Given the description of an element on the screen output the (x, y) to click on. 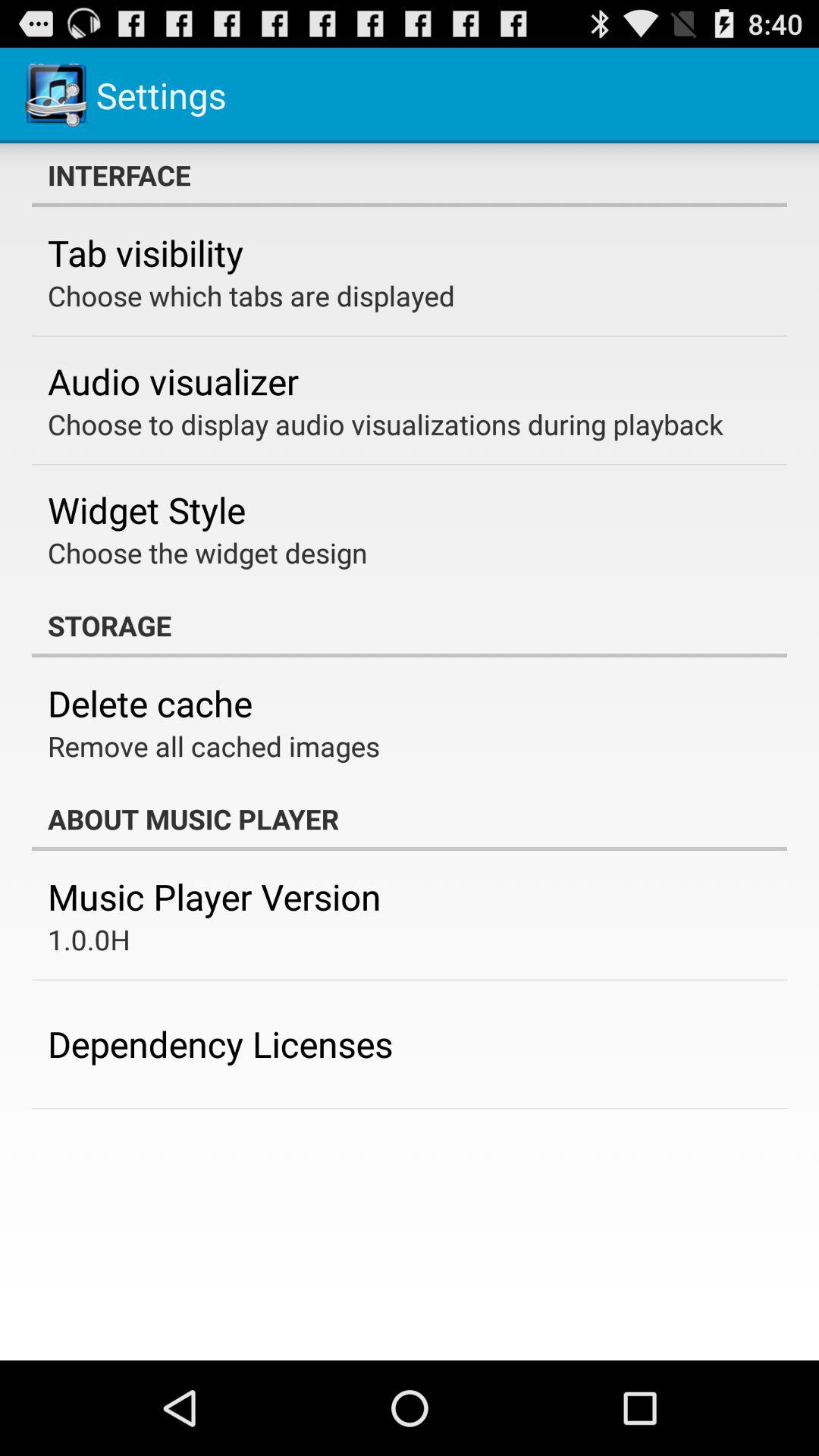
open icon below choose which tabs (172, 381)
